Given the description of an element on the screen output the (x, y) to click on. 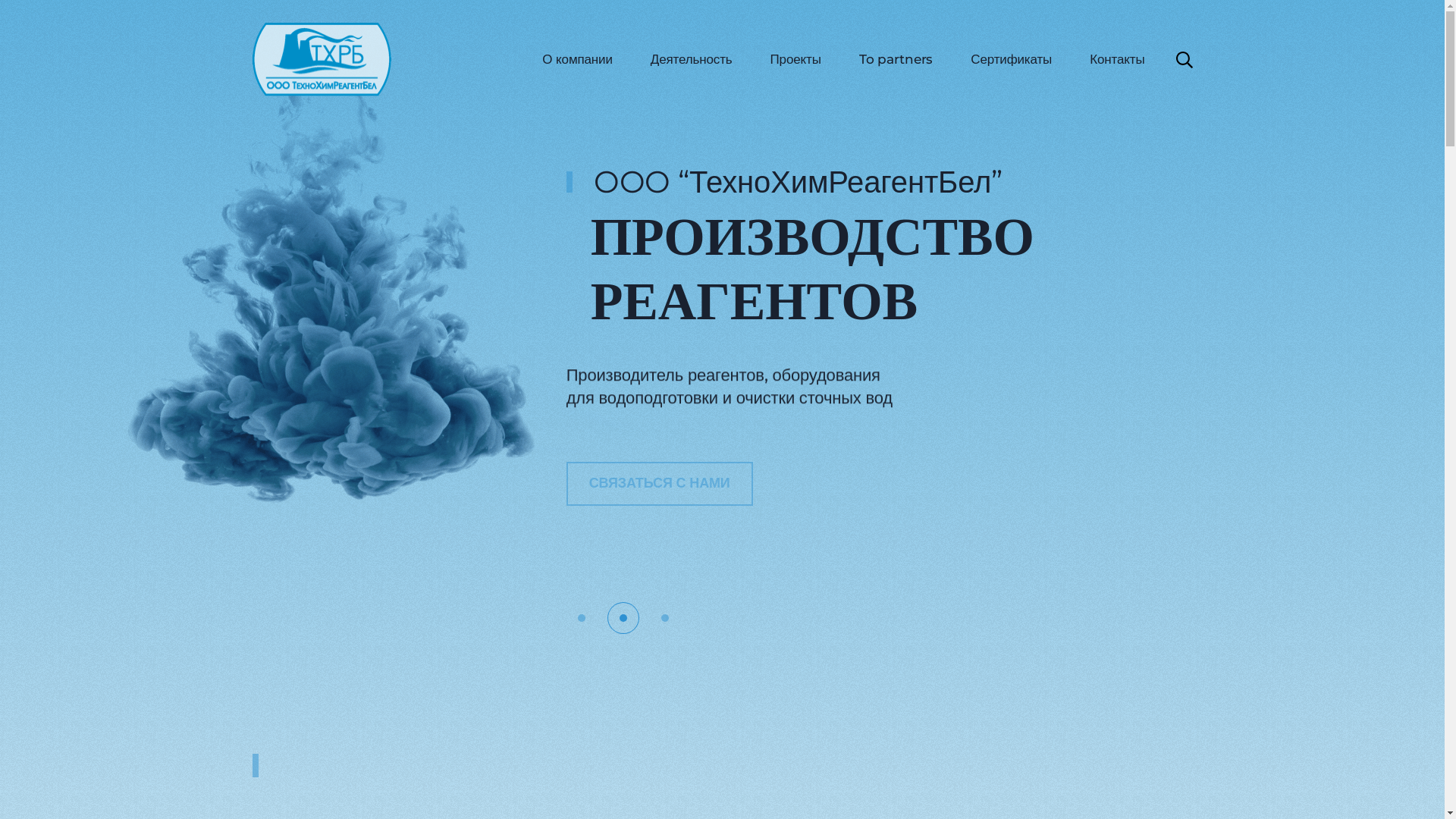
To partners Element type: text (895, 59)
2 Element type: text (623, 617)
3 Element type: text (664, 617)
1 Element type: text (581, 617)
